Given the description of an element on the screen output the (x, y) to click on. 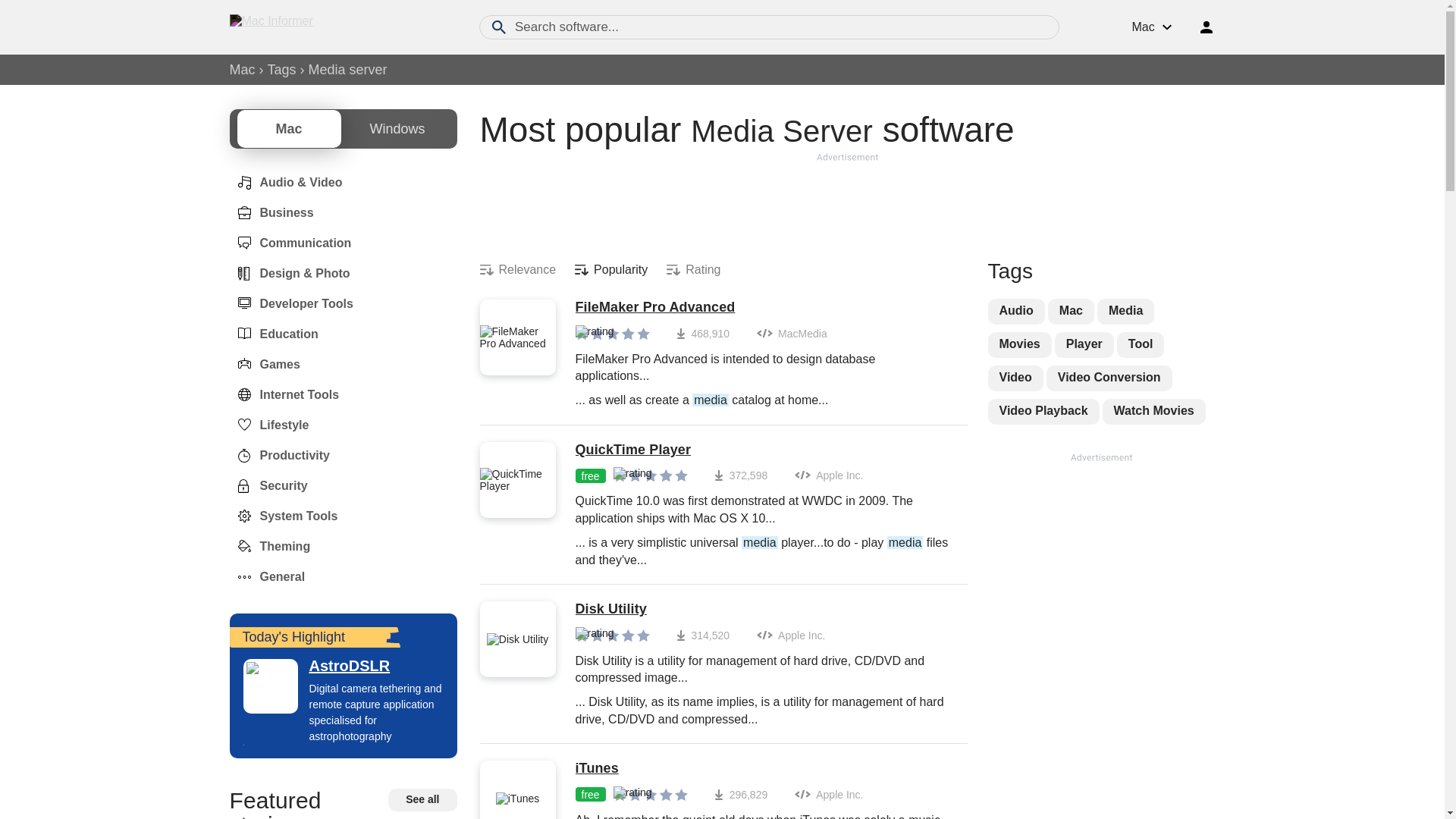
Popularity (611, 269)
Windows (396, 128)
Communication (289, 243)
AstroDSLR (342, 665)
QuickTime Player (763, 450)
FileMaker Pro Advanced (763, 307)
Internet Tools (283, 395)
iTunes (763, 768)
Games (263, 364)
Education (272, 334)
Mac (241, 69)
Business (270, 213)
System Tools (282, 516)
